Given the description of an element on the screen output the (x, y) to click on. 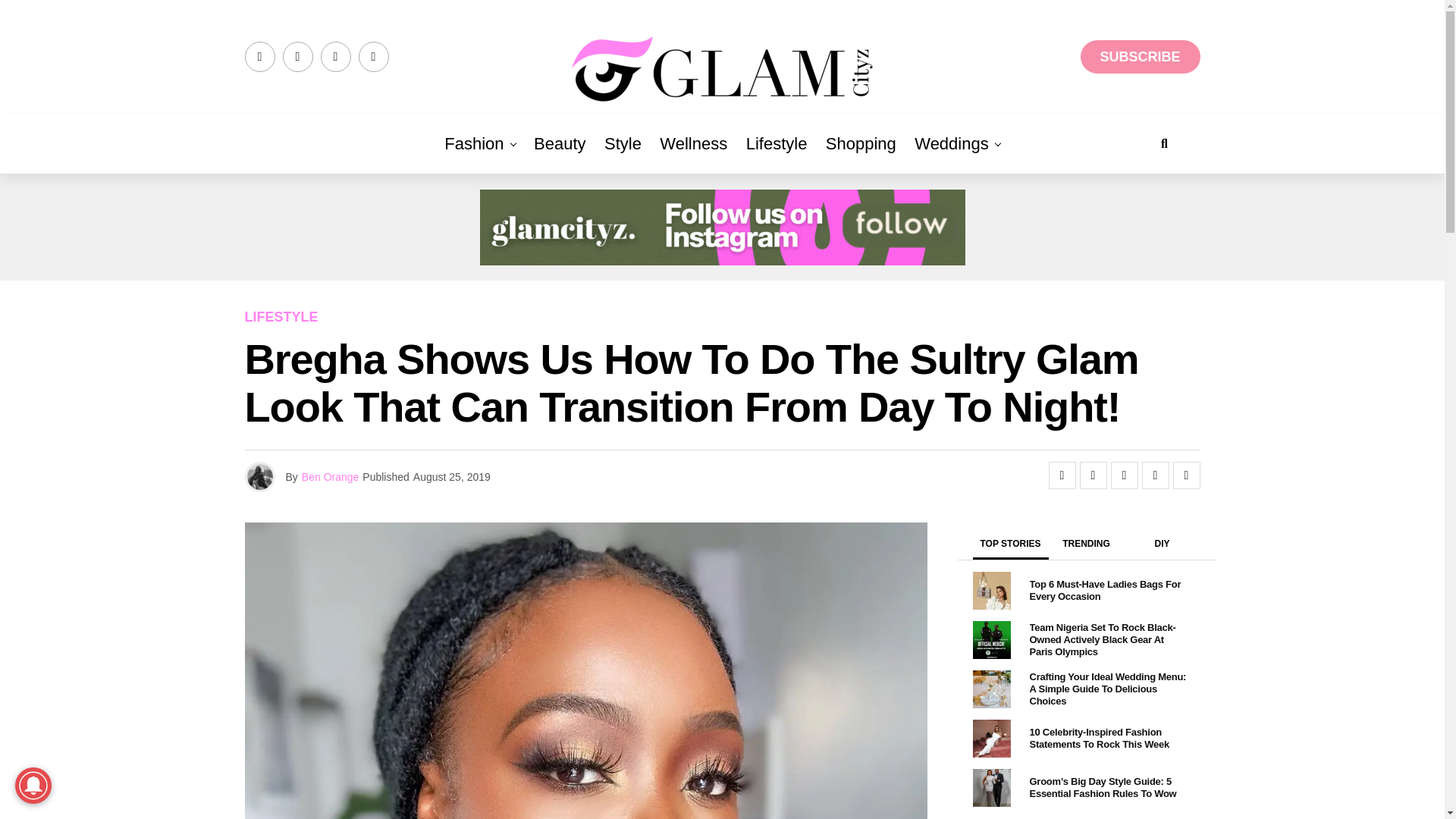
Beauty (559, 143)
Posts by Ben Orange (330, 476)
Style (622, 143)
Fashion (473, 143)
Share on Facebook (1061, 474)
Wellness (693, 143)
SUBSCRIBE (1139, 56)
Tweet This Post (1093, 474)
